Given the description of an element on the screen output the (x, y) to click on. 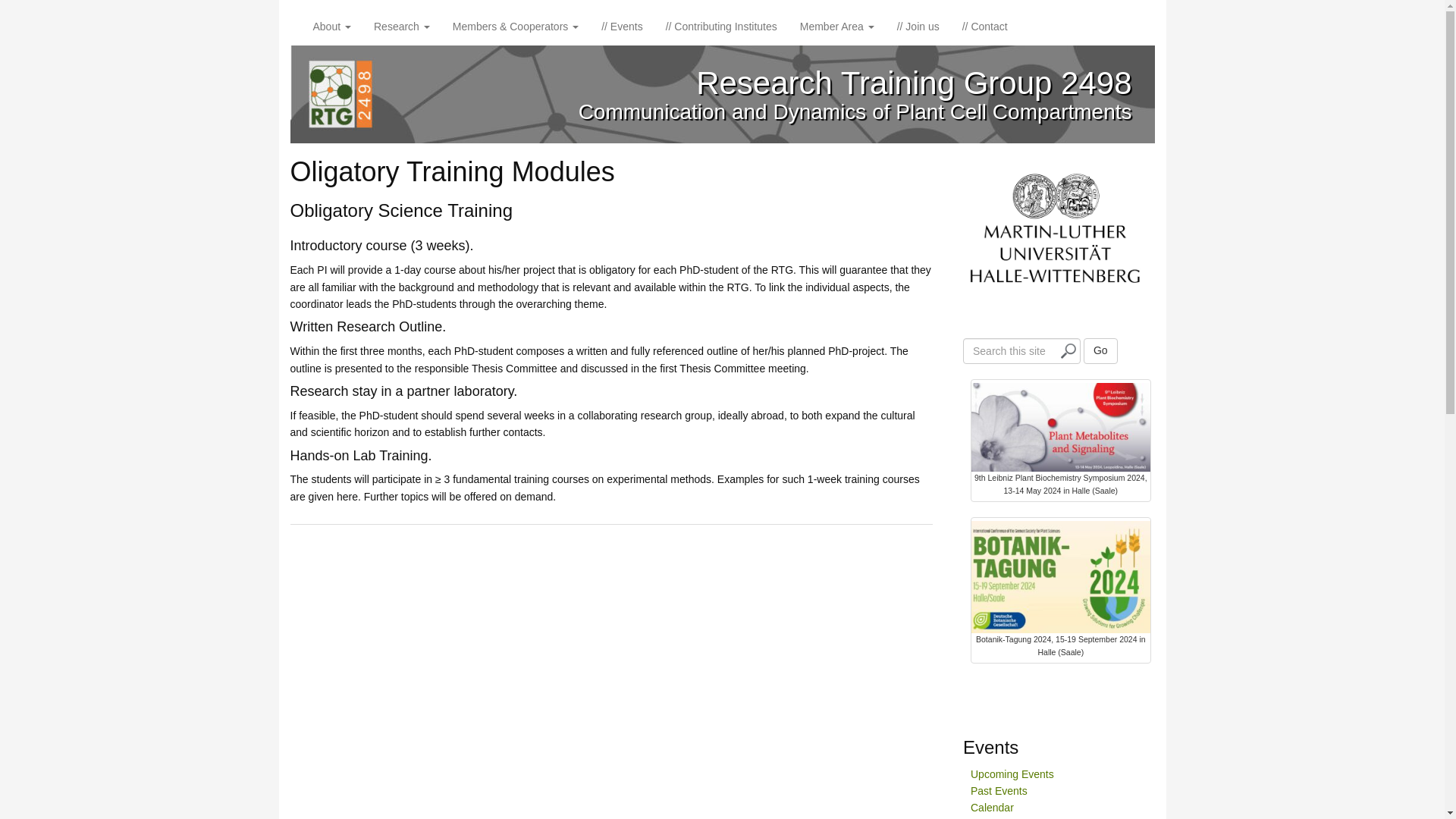
Past Events (999, 790)
Research Training Group 2498 (913, 82)
Research (401, 26)
Research (401, 26)
About (331, 26)
Calendar (992, 807)
Upcoming Events (1012, 774)
Member Area (837, 26)
Member Area (837, 26)
Go (1100, 350)
About (331, 26)
